Given the description of an element on the screen output the (x, y) to click on. 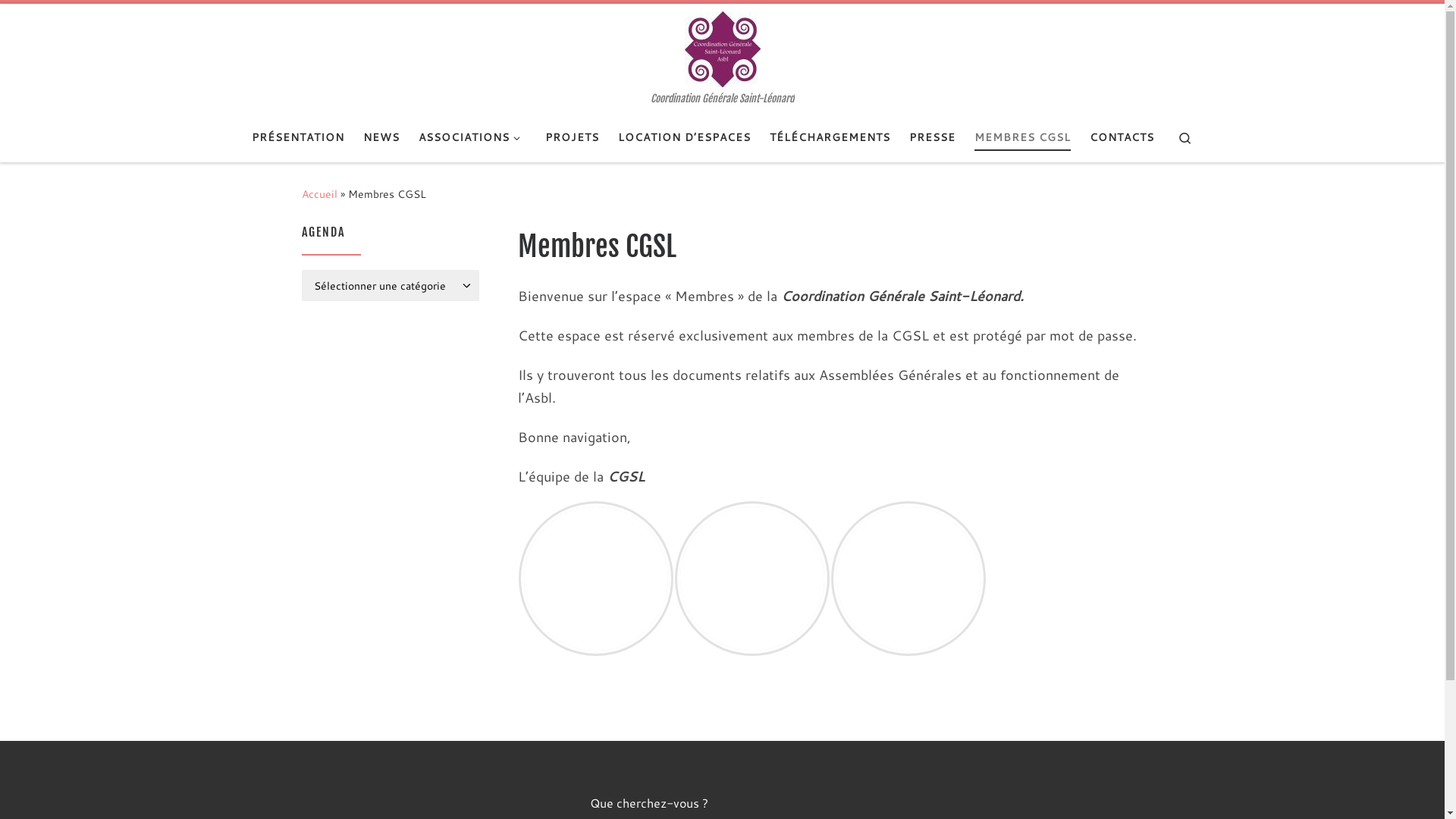
MEMBRES CGSL Element type: text (1022, 137)
PRESSE Element type: text (931, 137)
PROJETS Element type: text (571, 137)
Search Element type: text (1184, 137)
NEWS Element type: text (381, 137)
Accueil Element type: text (319, 193)
CONTACTS Element type: text (1121, 137)
ASSOCIATIONS Element type: text (472, 137)
